Given the description of an element on the screen output the (x, y) to click on. 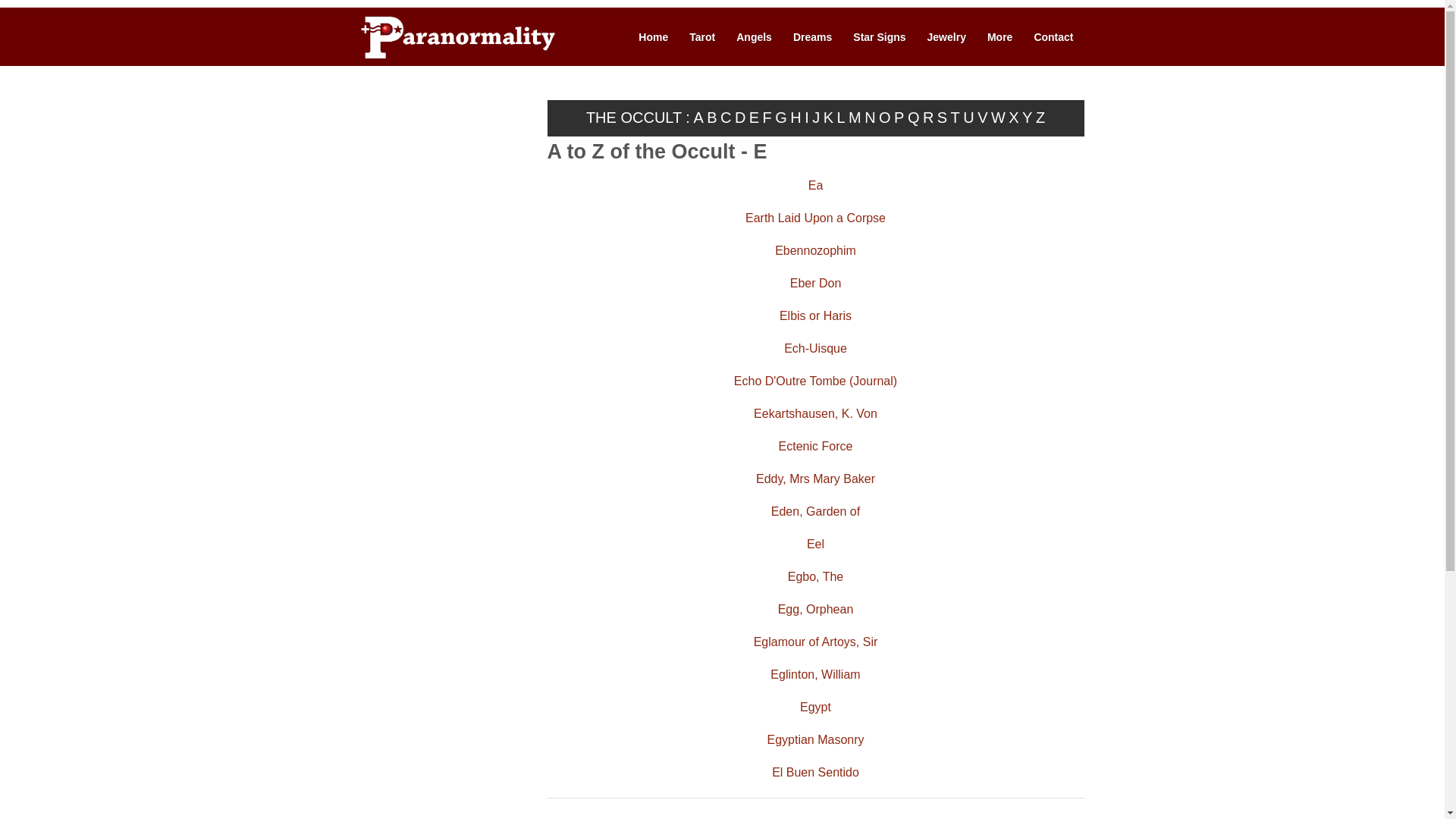
Zodiac star signs (879, 37)
Amulets, talismans and charms (946, 37)
Paranormality home page (457, 37)
At to Z of dream menaings (813, 37)
Home (652, 37)
Angel guide (754, 37)
Star Signs (879, 37)
Jewelry (946, 37)
Dreams (813, 37)
Angels (754, 37)
